Given the description of an element on the screen output the (x, y) to click on. 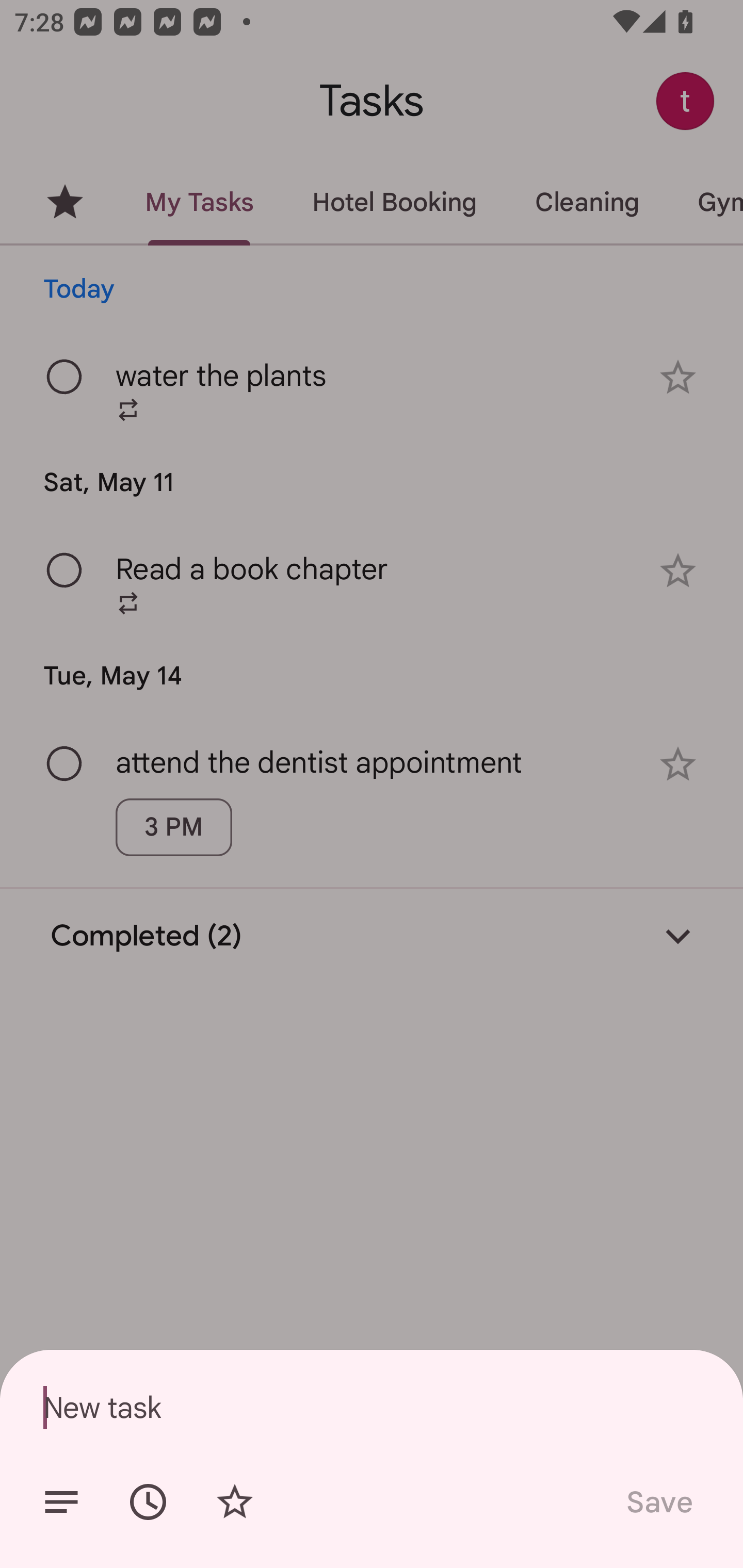
New task (371, 1407)
Save (659, 1501)
Add details (60, 1501)
Set date/time (147, 1501)
Add star (234, 1501)
